Given the description of an element on the screen output the (x, y) to click on. 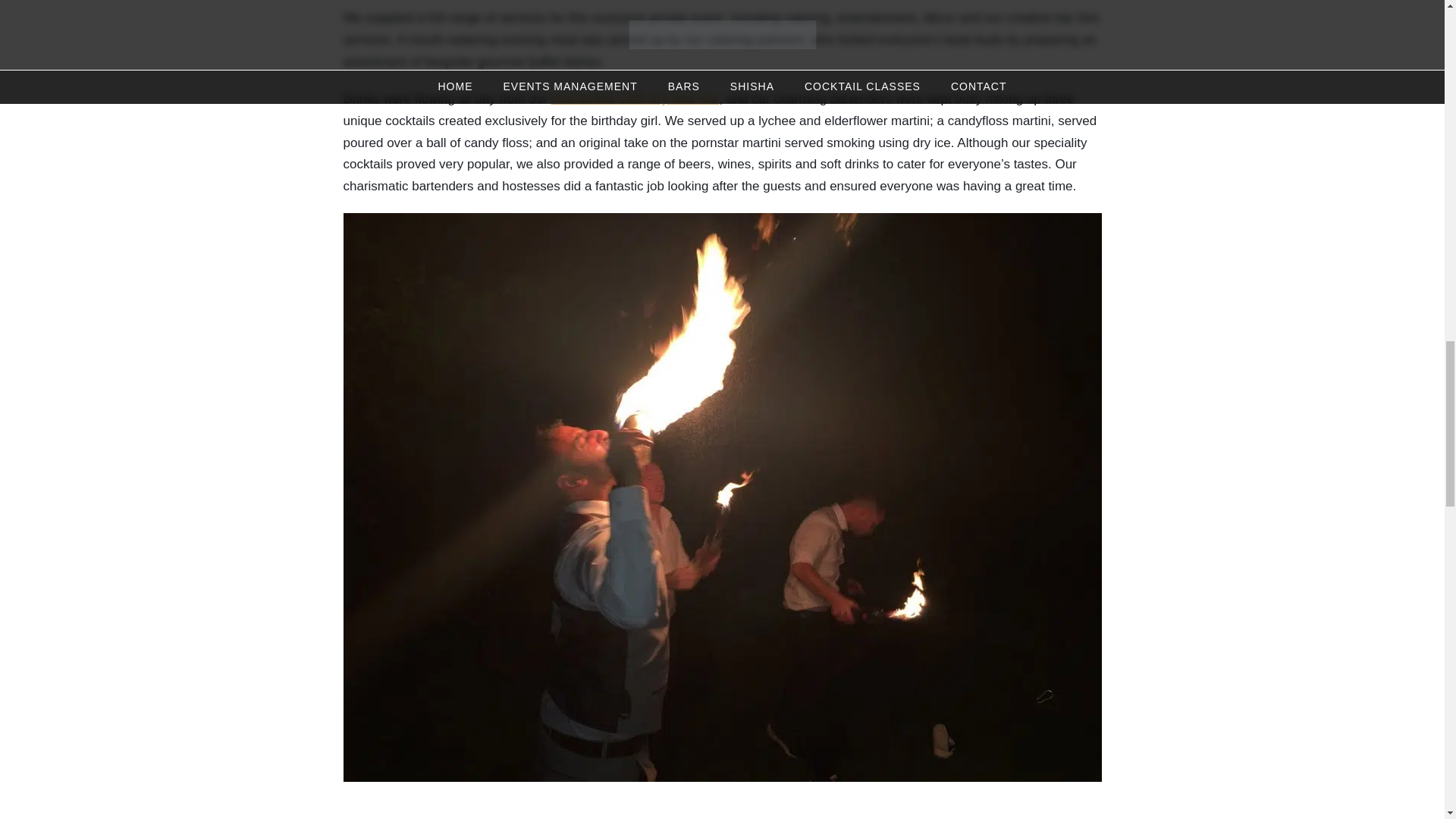
Spectacular 18th Birthday Celebrations by Mr Flavour 4 (721, 792)
interactive LED dry hire bar (634, 98)
